Given the description of an element on the screen output the (x, y) to click on. 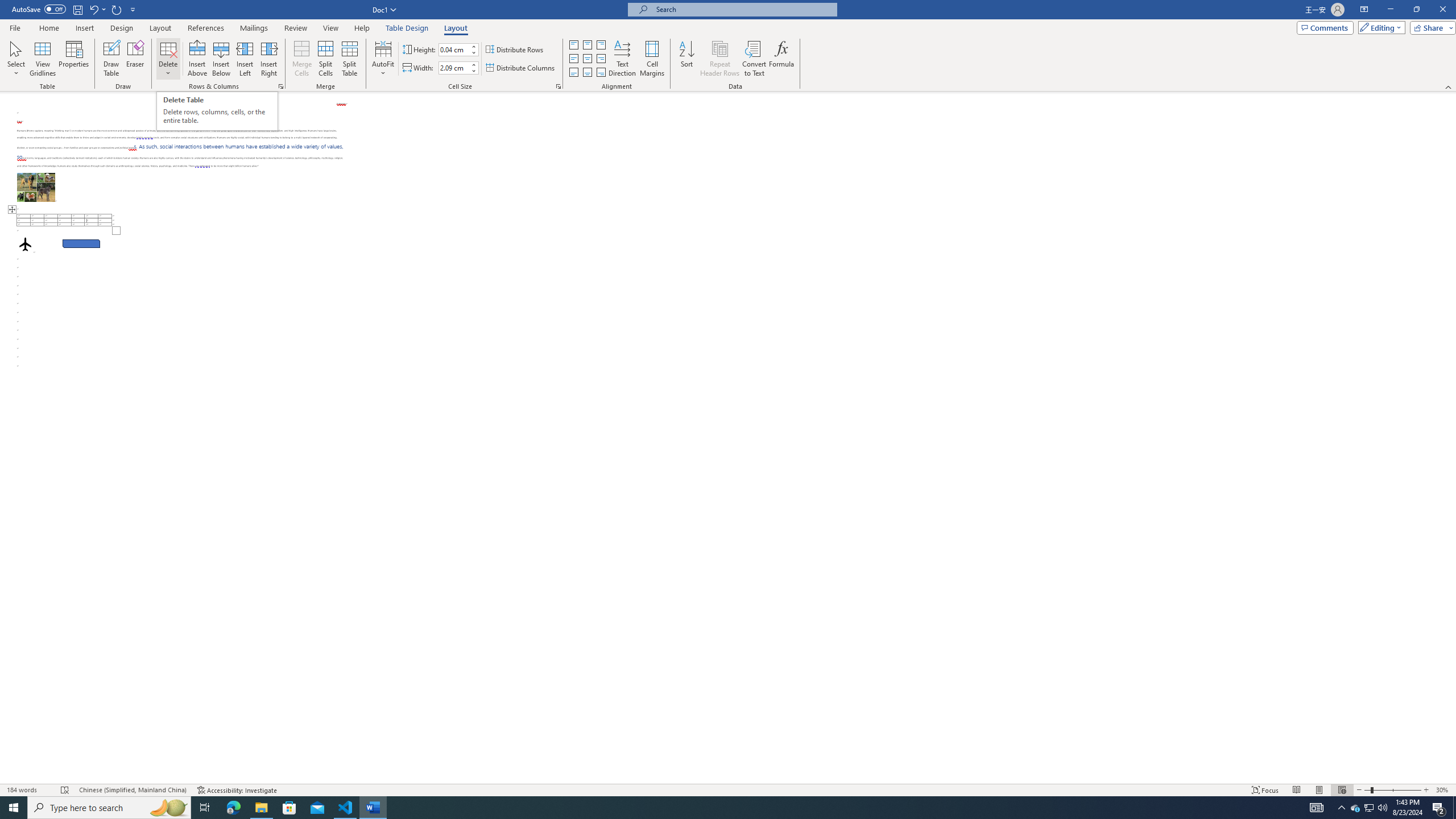
Eraser (135, 58)
Align Bottom Center (587, 72)
Morphological variation in six dogs (36, 187)
Align Top Right (601, 44)
More (473, 64)
Insert Right (269, 58)
Text Direction (622, 58)
Split Table (349, 58)
Merge Cells (301, 58)
